Given the description of an element on the screen output the (x, y) to click on. 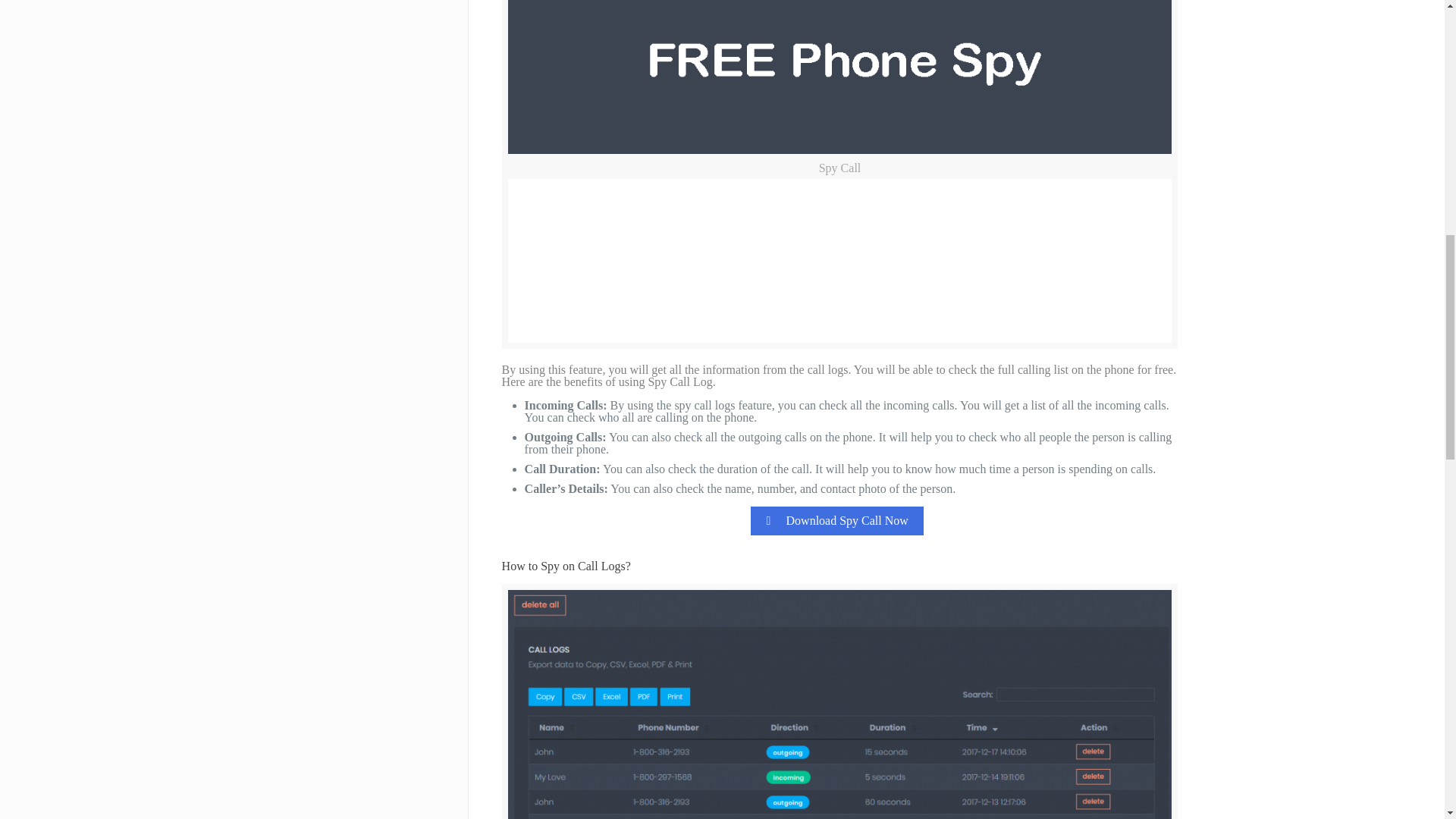
Advertisement (849, 260)
Download Spy Call Now (837, 520)
